Given the description of an element on the screen output the (x, y) to click on. 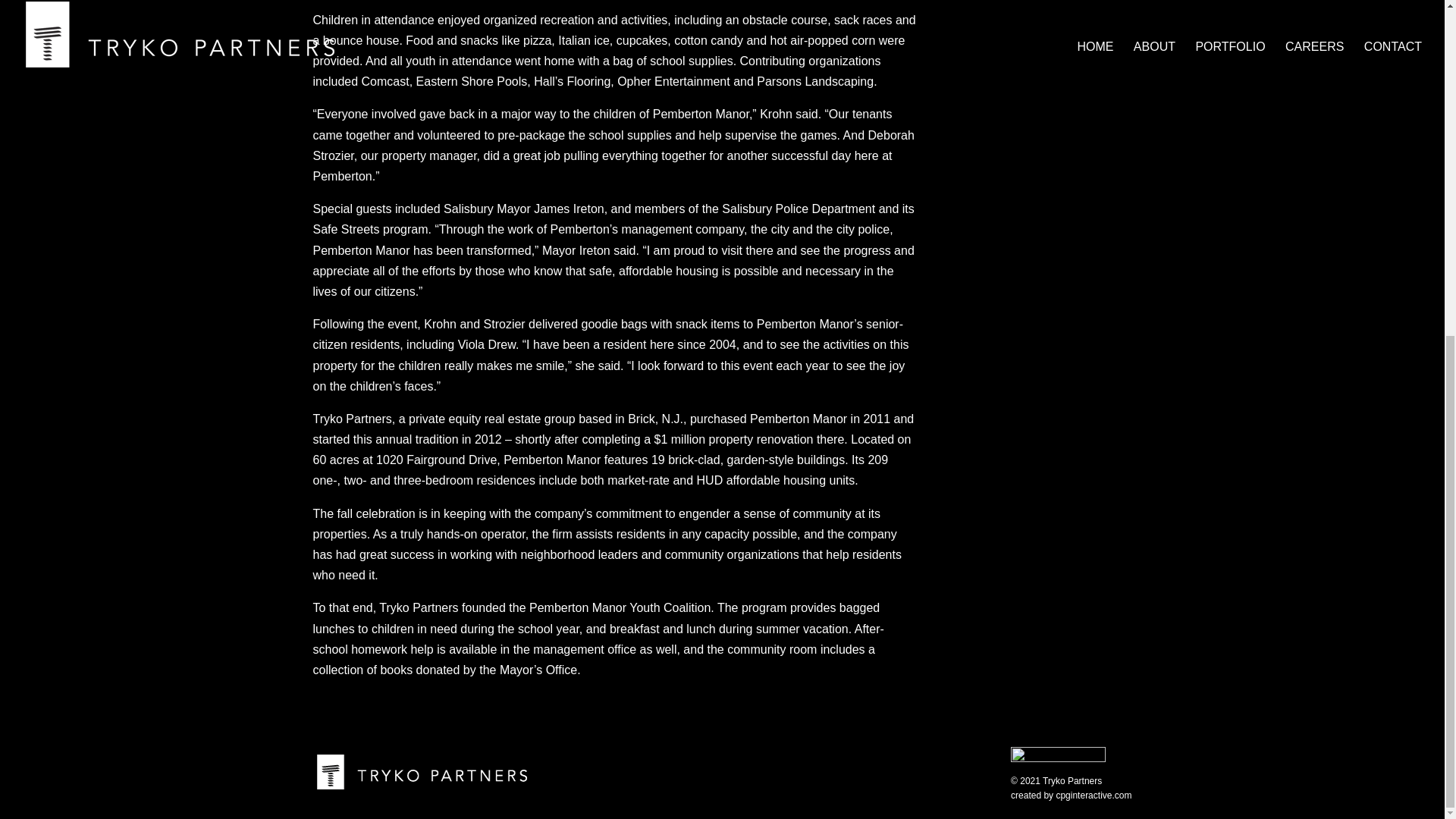
created by cpginteractive.com (1070, 795)
